Given the description of an element on the screen output the (x, y) to click on. 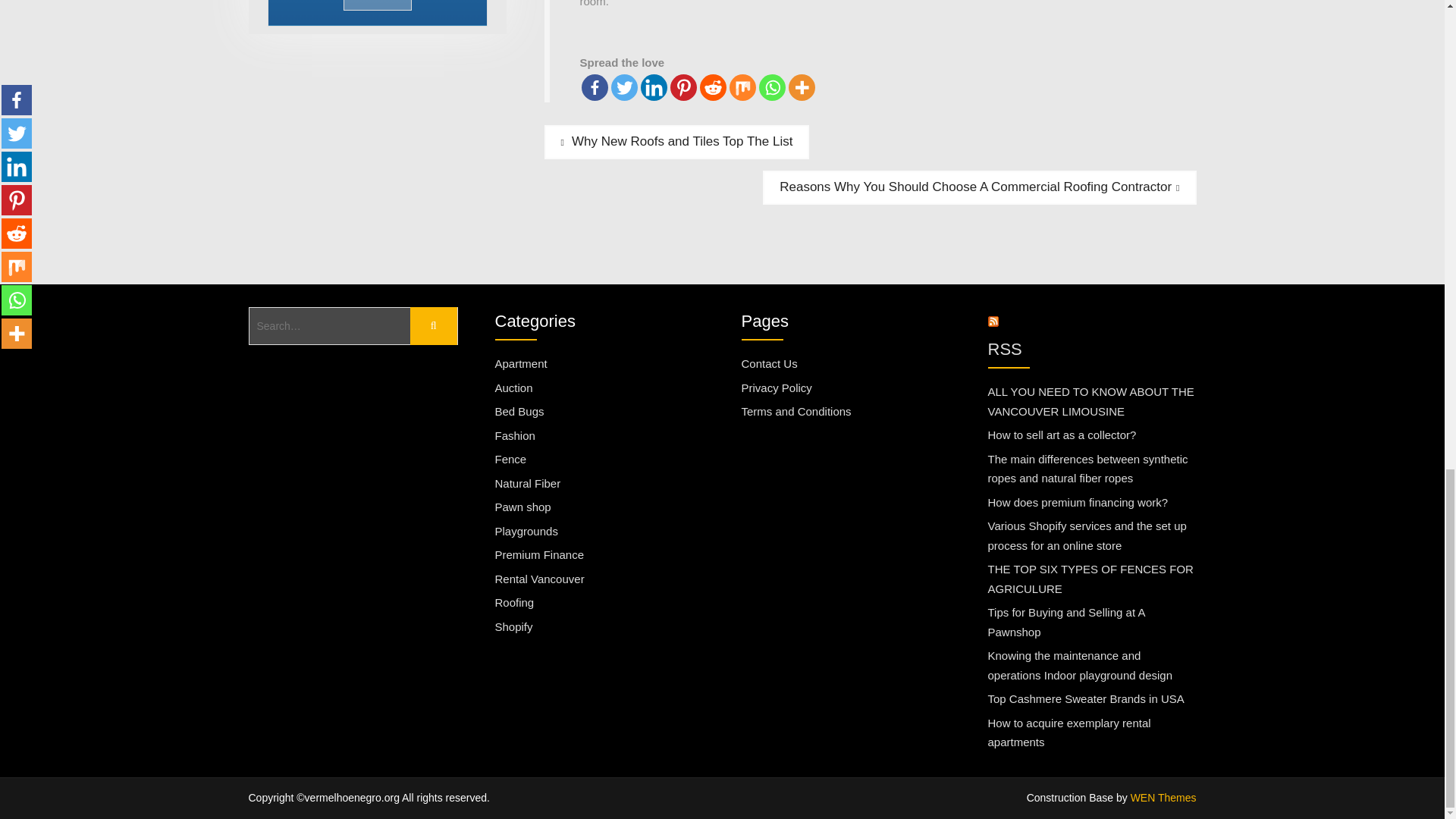
Linkedin (653, 87)
Reddit (711, 87)
Pinterest (683, 87)
Mix (742, 87)
More (802, 87)
Facebook (593, 87)
Twitter (624, 87)
Whatsapp (771, 87)
